Given the description of an element on the screen output the (x, y) to click on. 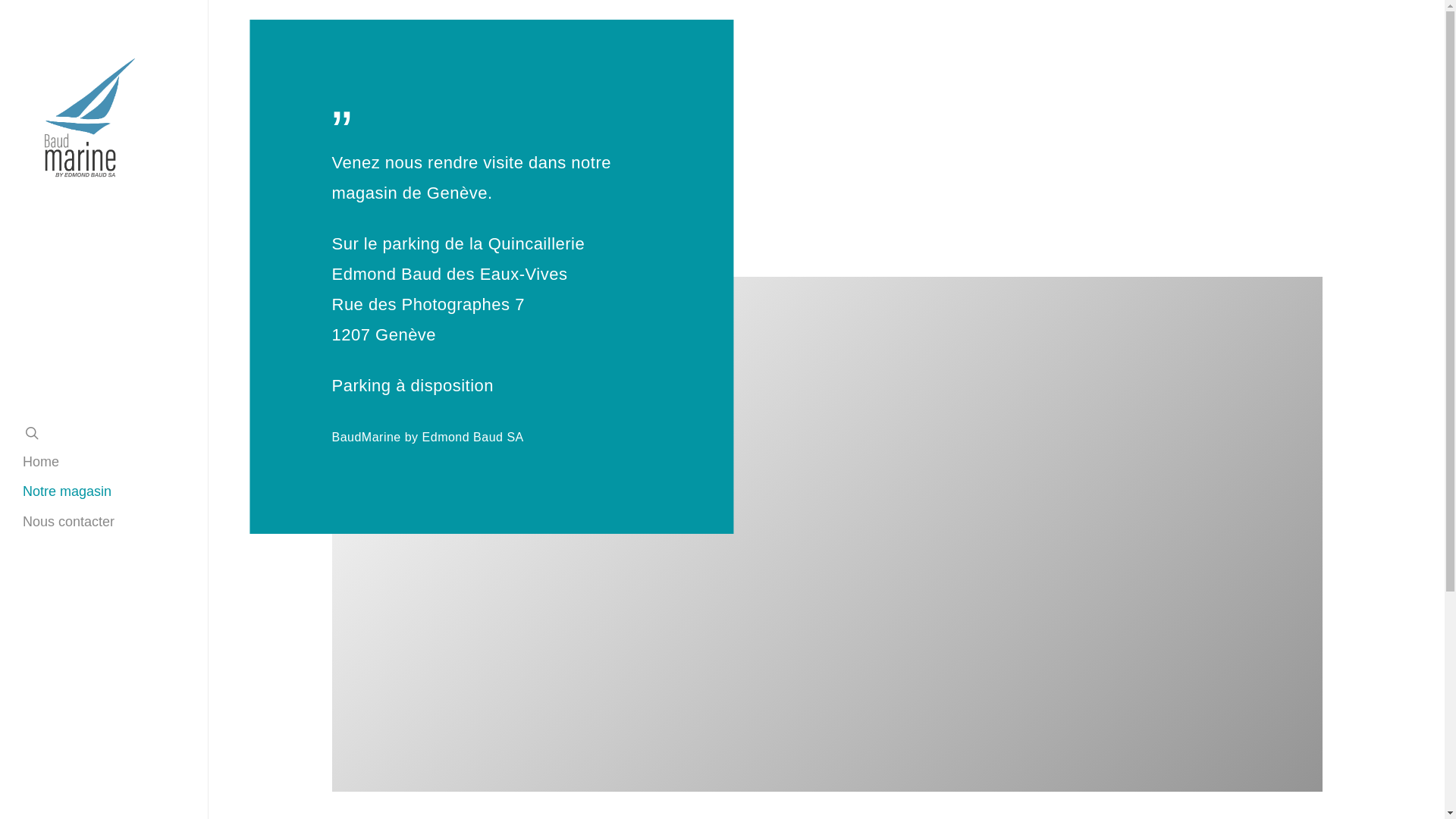
Nous contacter Element type: text (68, 521)
Home Element type: text (40, 461)
Notre magasin Element type: text (66, 491)
